Given the description of an element on the screen output the (x, y) to click on. 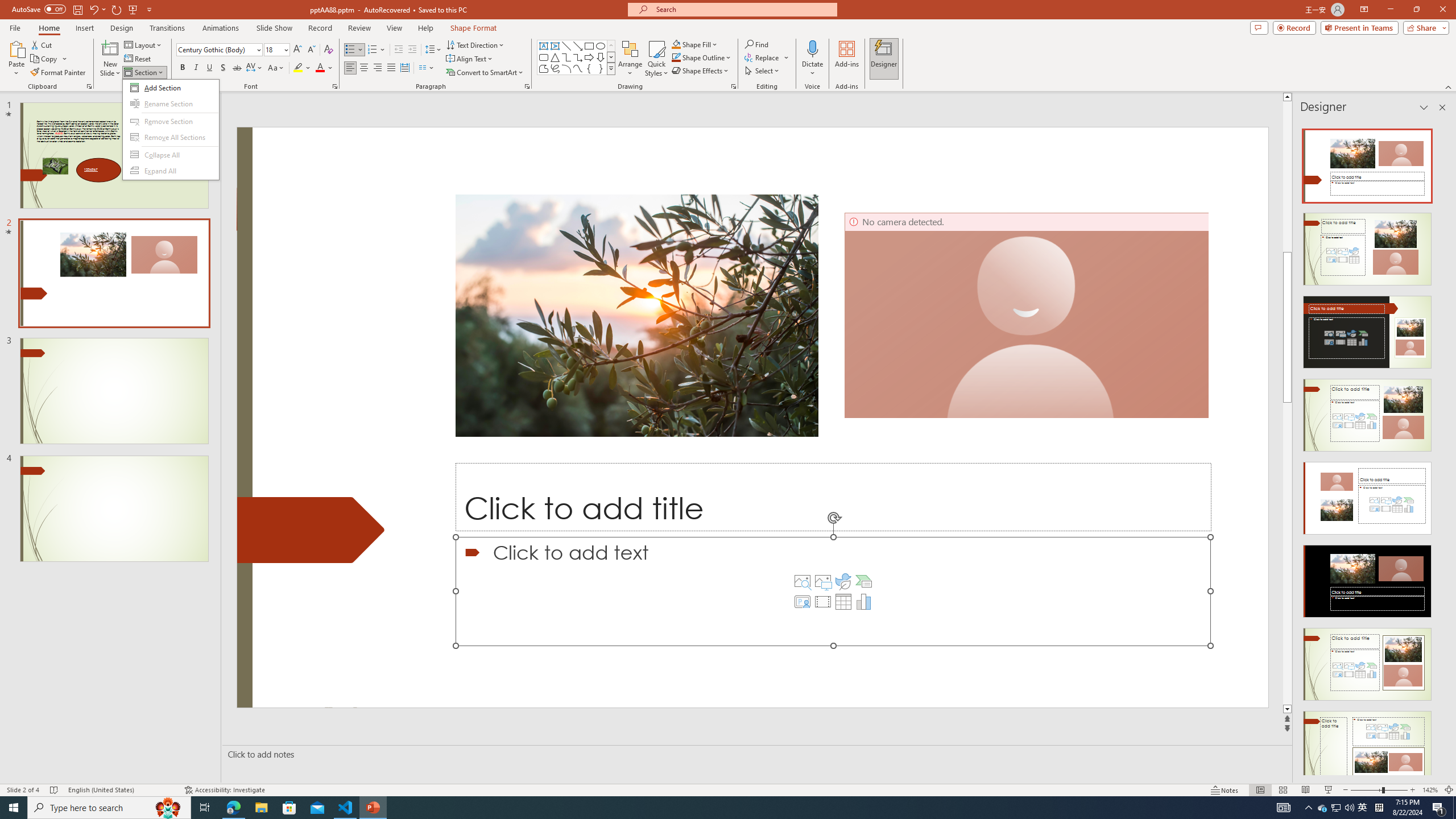
Camera 7, No camera detected. (1026, 315)
